Given the description of an element on the screen output the (x, y) to click on. 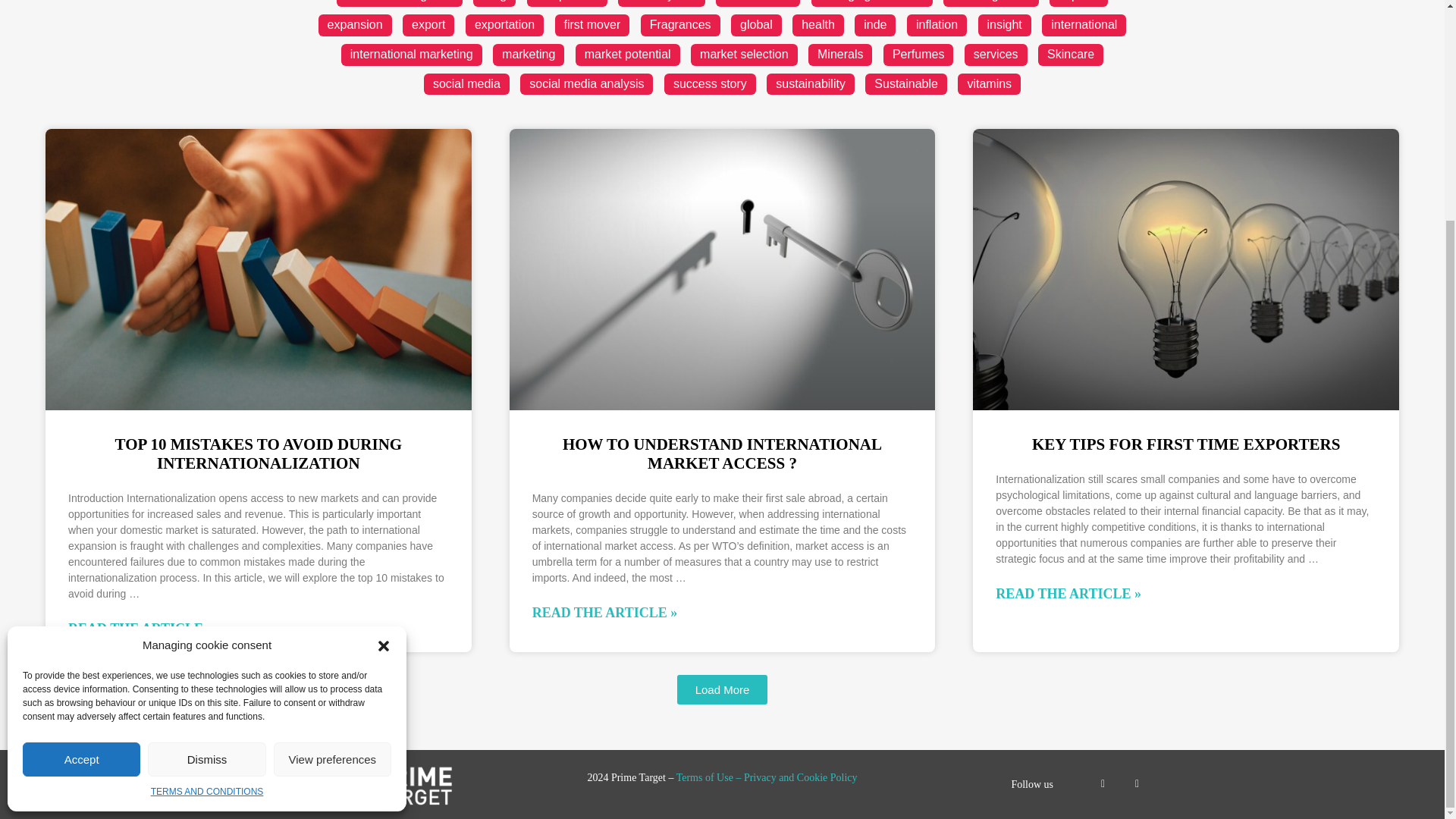
Accept (81, 467)
TERMS AND CONDITIONS (207, 499)
Dismiss (206, 467)
View preferences (332, 467)
